Given the description of an element on the screen output the (x, y) to click on. 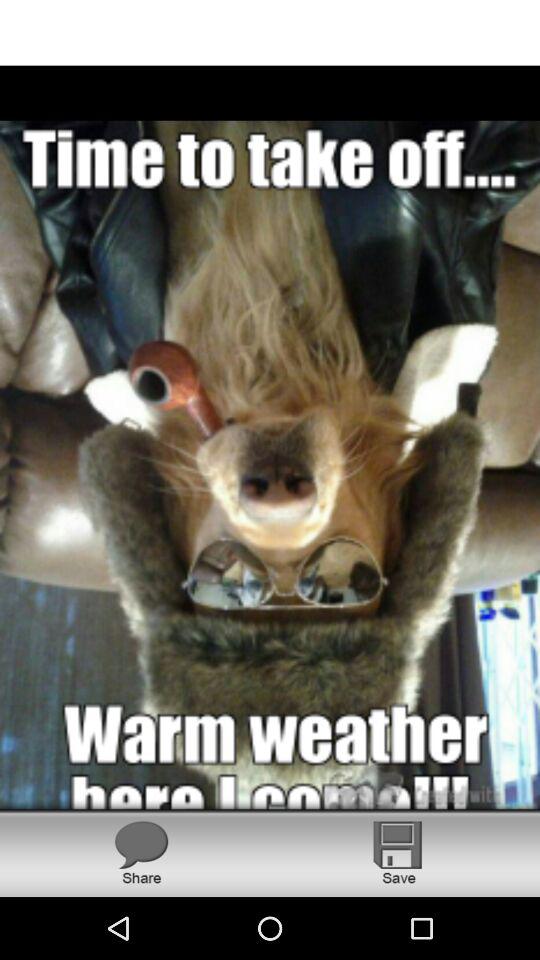
open item at the bottom right corner (398, 852)
